Given the description of an element on the screen output the (x, y) to click on. 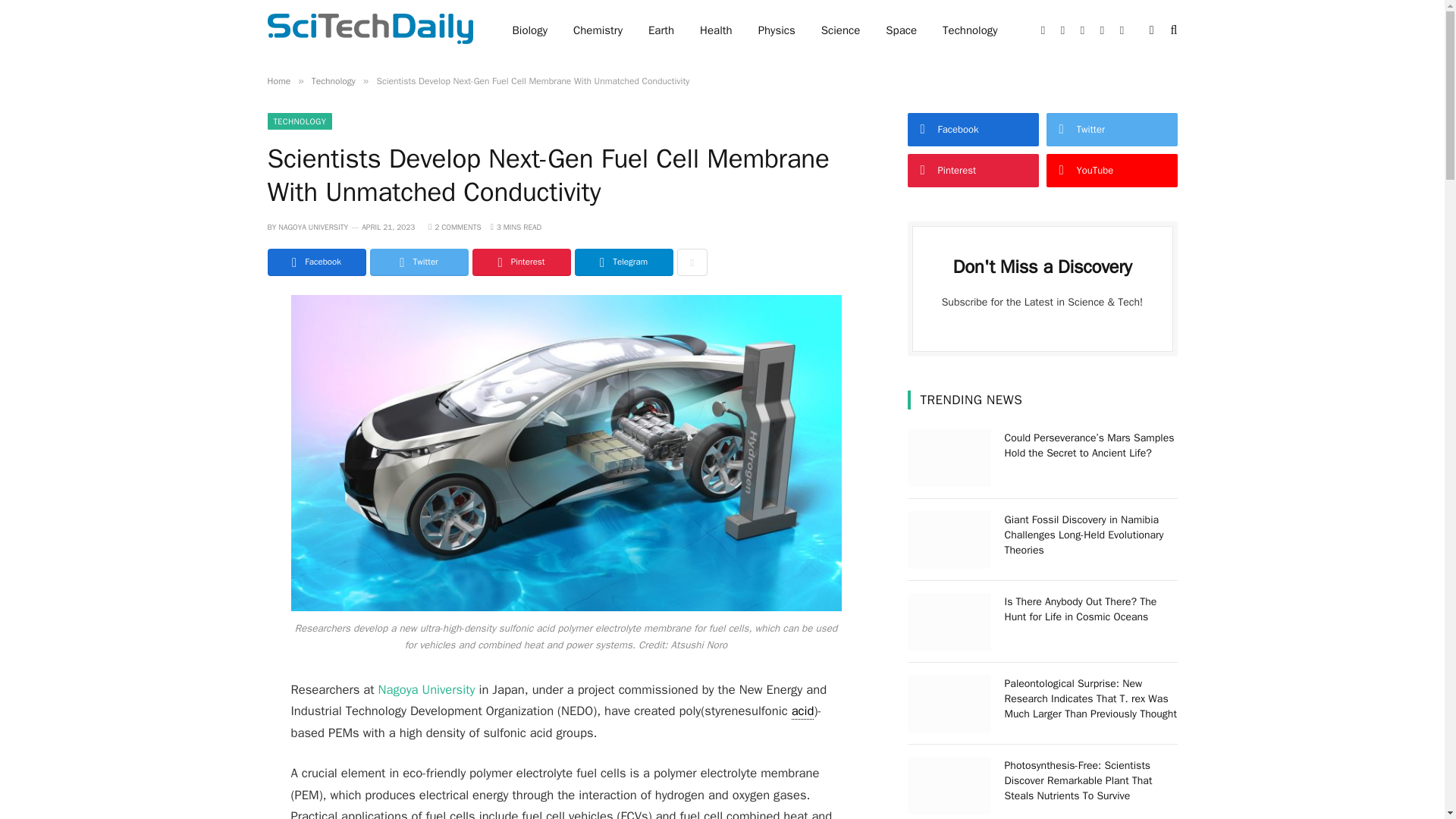
Chemistry (597, 30)
SciTechDaily (368, 30)
Biology (529, 30)
Facebook (315, 262)
Pinterest (520, 262)
Share on Pinterest (520, 262)
Share on Telegram (623, 262)
Twitter (418, 262)
Technology (970, 30)
Technology (333, 80)
